Given the description of an element on the screen output the (x, y) to click on. 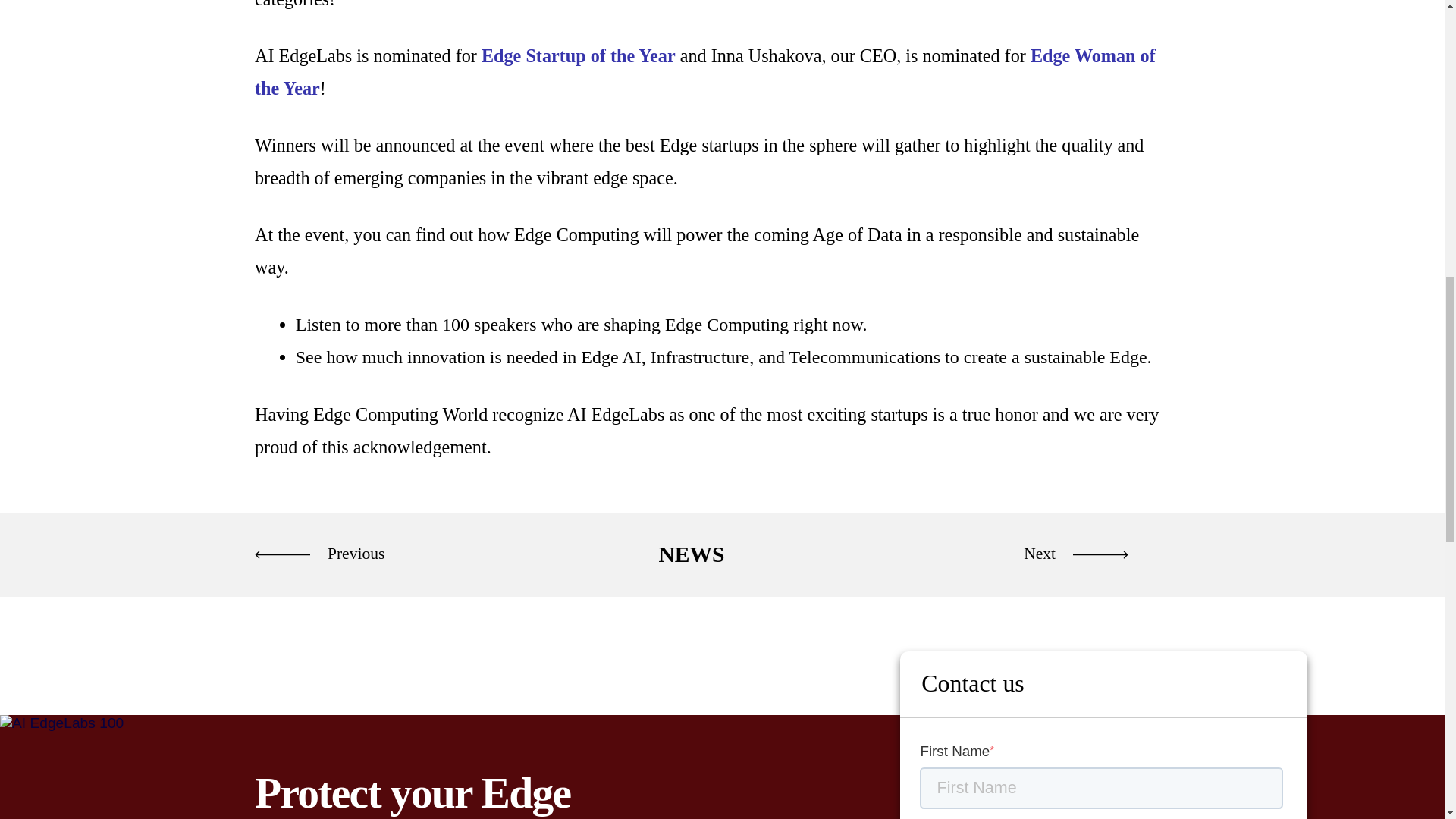
Previous (327, 553)
Next (1055, 553)
NEWS (690, 554)
